Given the description of an element on the screen output the (x, y) to click on. 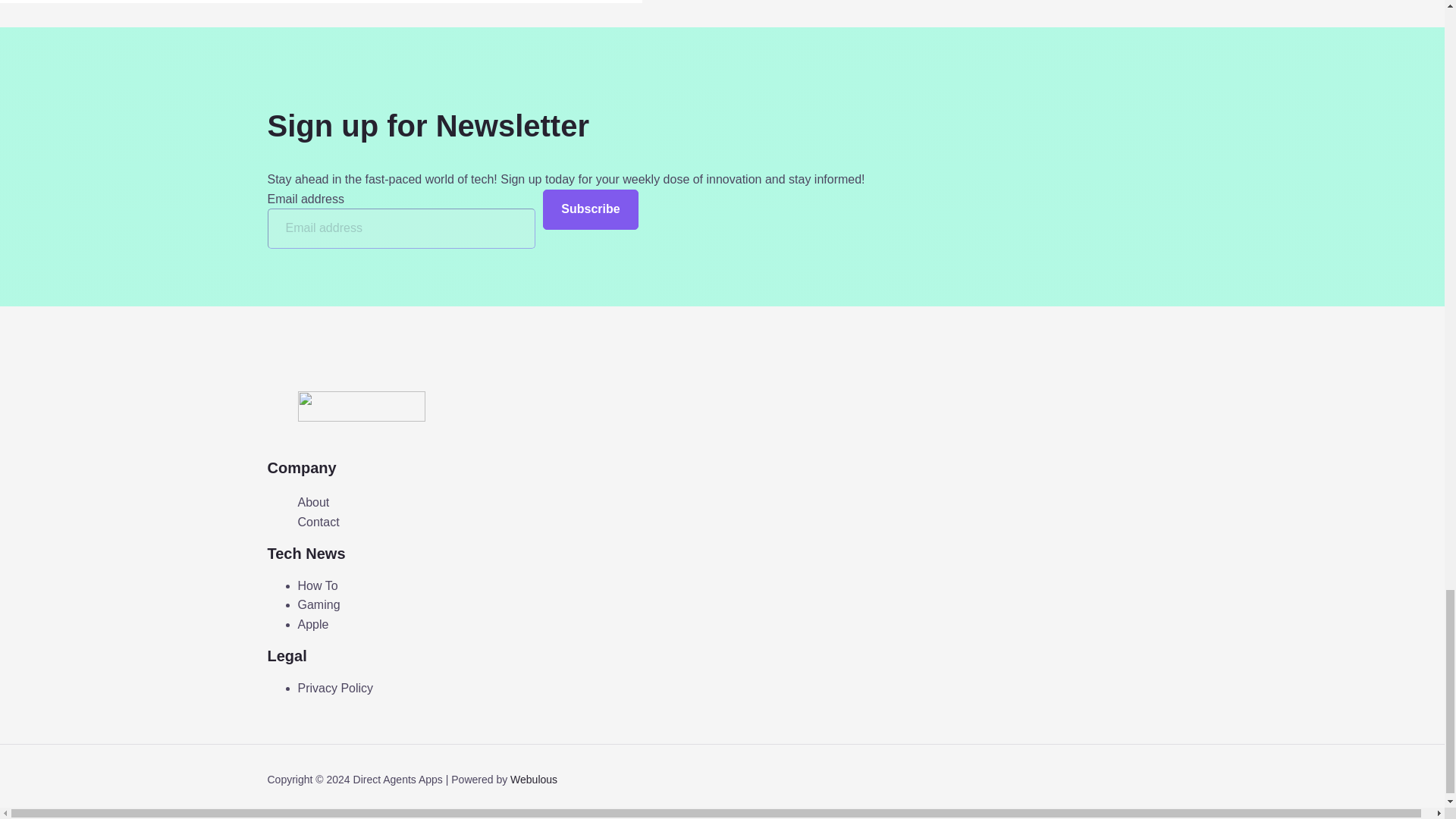
Subscribe (590, 209)
Gaming (318, 604)
Privacy Policy (334, 687)
How To (317, 585)
About (313, 502)
Apple (313, 624)
Webulous (534, 779)
Please fill in this field. (400, 228)
Contact (318, 522)
